Given the description of an element on the screen output the (x, y) to click on. 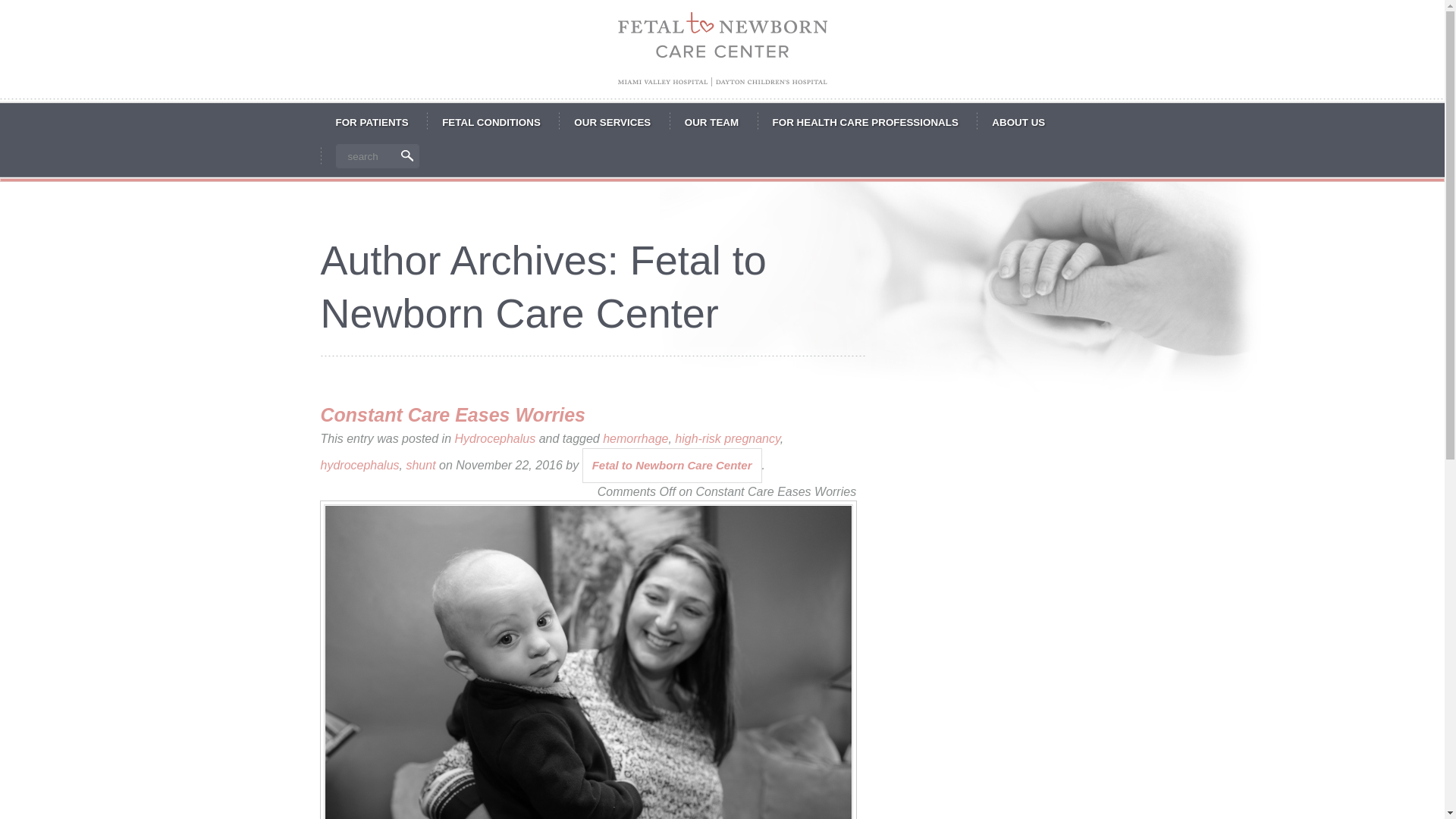
FETAL CONDITIONS (490, 122)
FOR HEALTH CARE PROFESSIONALS (865, 122)
View all posts by Fetal to Newborn Care Center (672, 464)
Permalink to Constant Care Eases Worries (452, 414)
FOR PATIENTS (372, 122)
OUR TEAM (710, 122)
OUR SERVICES (612, 122)
